Given the description of an element on the screen output the (x, y) to click on. 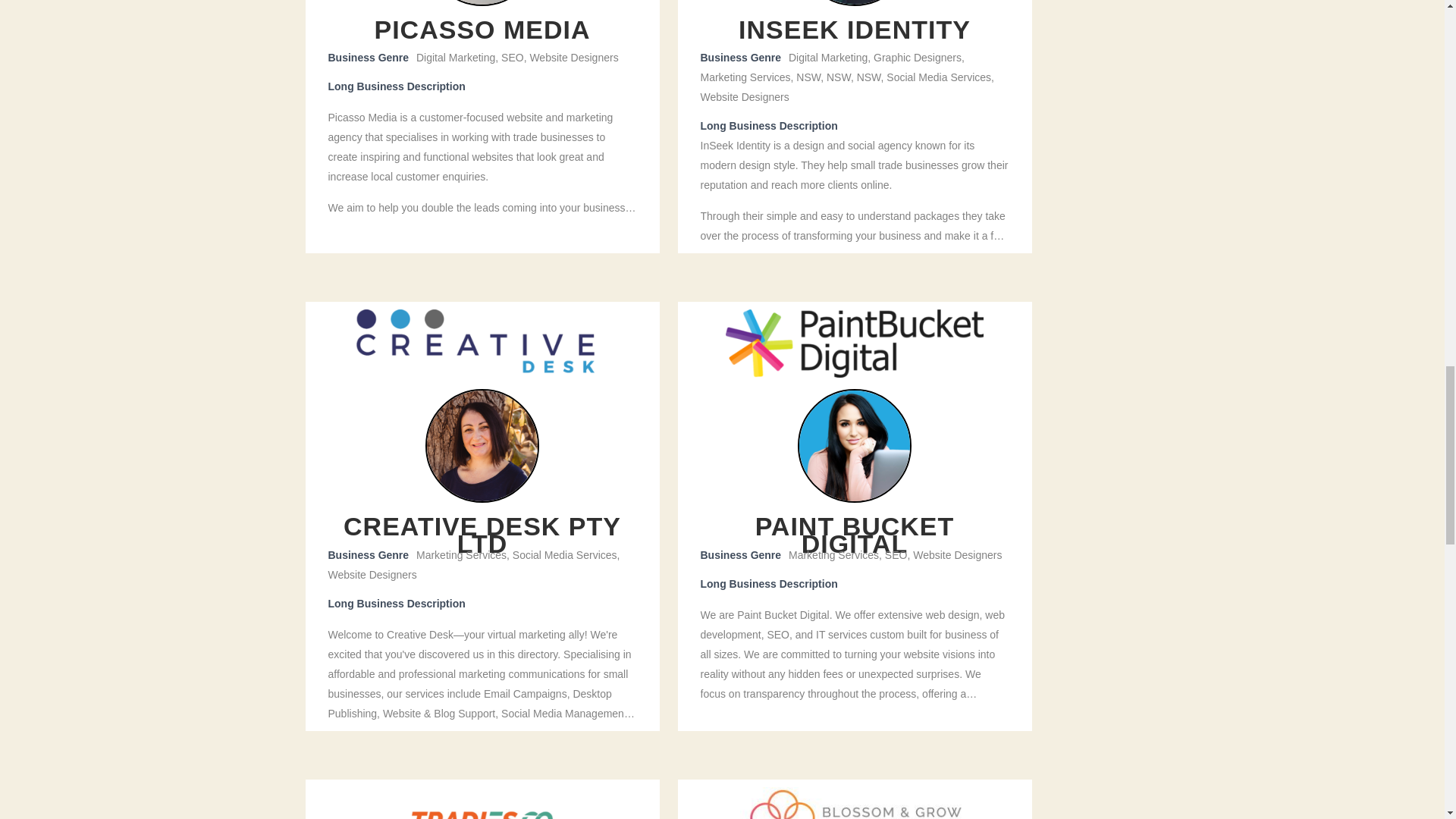
Paint Bucket Digital (854, 343)
TradiesGO (481, 803)
Blossom and Grow SEO, Web Design, Copywriting (854, 803)
Creative Desk Pty Ltd (481, 343)
